Given the description of an element on the screen output the (x, y) to click on. 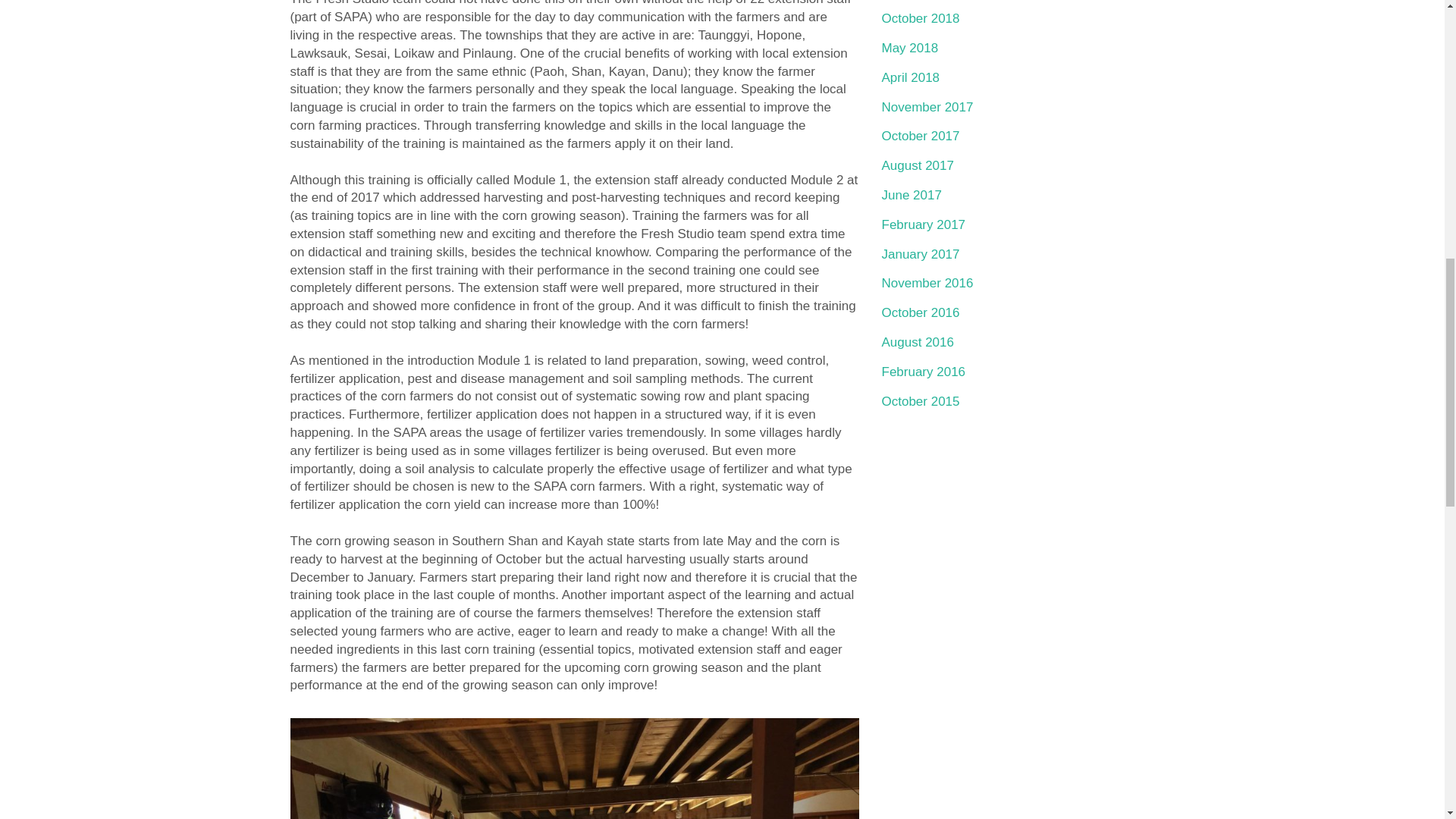
October 2018 (919, 18)
November 2017 (926, 106)
April 2018 (909, 77)
October 2017 (919, 135)
February 2017 (922, 224)
June 2017 (910, 195)
August 2017 (916, 165)
May 2018 (908, 47)
